Given the description of an element on the screen output the (x, y) to click on. 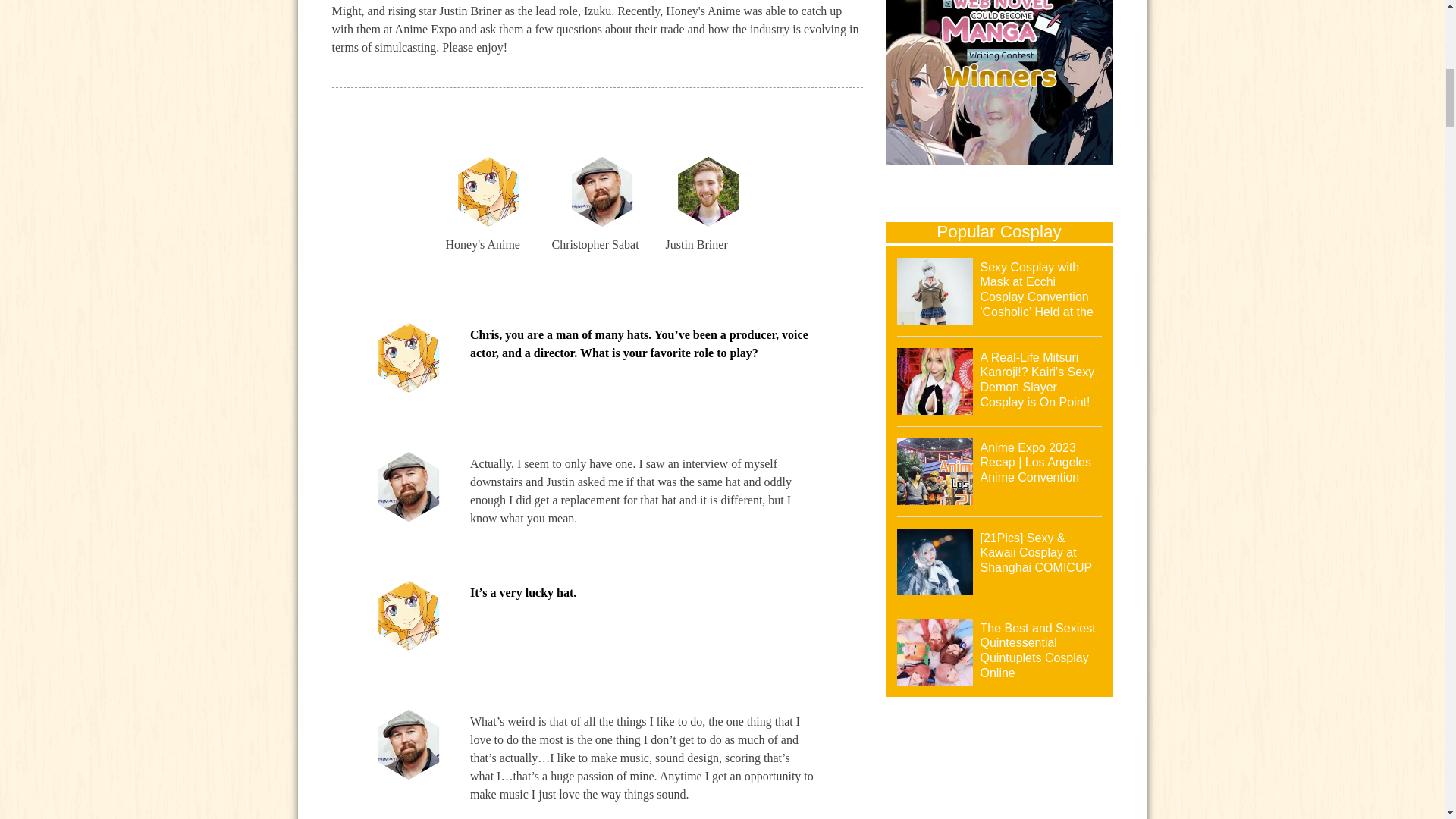
banner-honeyfeed-malcontest (999, 85)
